Given the description of an element on the screen output the (x, y) to click on. 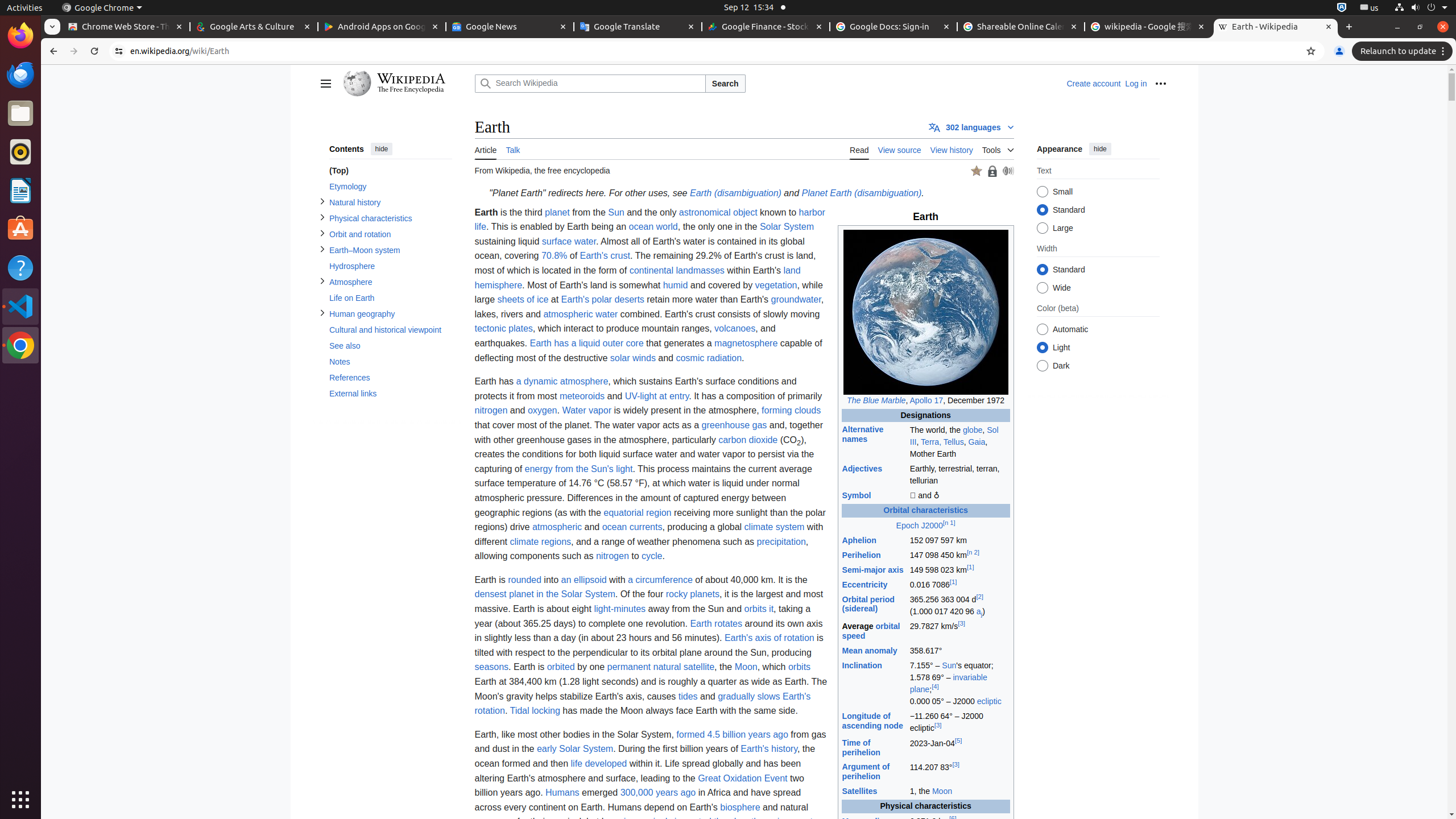
Earth's crust Element type: link (604, 255)
Moon Element type: link (941, 791)
landmasses Element type: link (699, 270)
Epoch Element type: link (907, 525)
equatorial region Element type: link (637, 512)
